Given the description of an element on the screen output the (x, y) to click on. 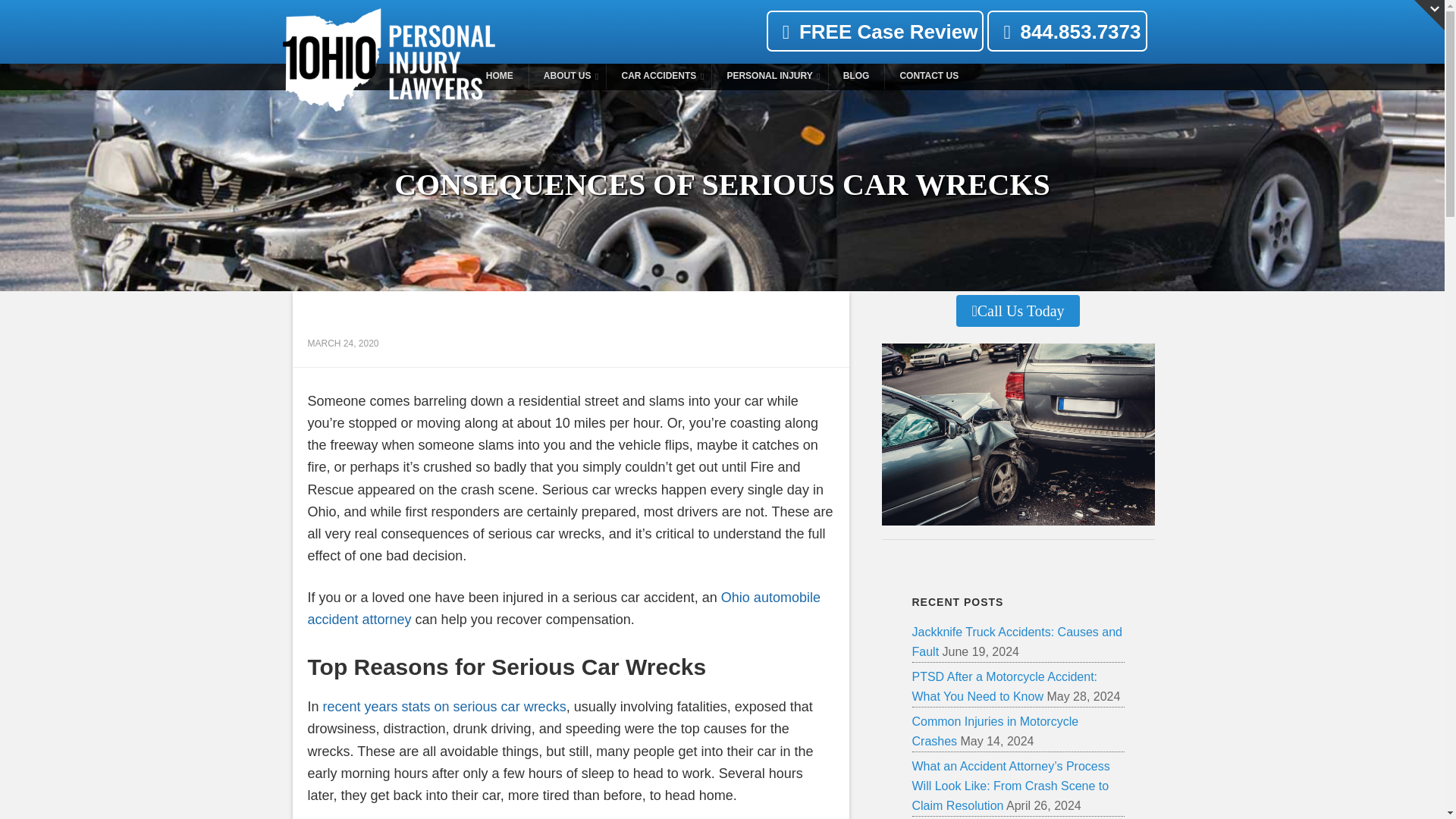
FREE Case Review (875, 30)
844.853.7373 (1066, 33)
CAR ACCIDENTS (658, 76)
PERSONAL INJURY (769, 76)
About Ohio Injury Law Firm (567, 76)
Ohio Car Accident Attorneys (499, 76)
BLOG (856, 76)
HOME (499, 76)
CONTACT US (928, 76)
ABOUT US (721, 76)
Ohio Car Accident Lawyers (567, 76)
